Given the description of an element on the screen output the (x, y) to click on. 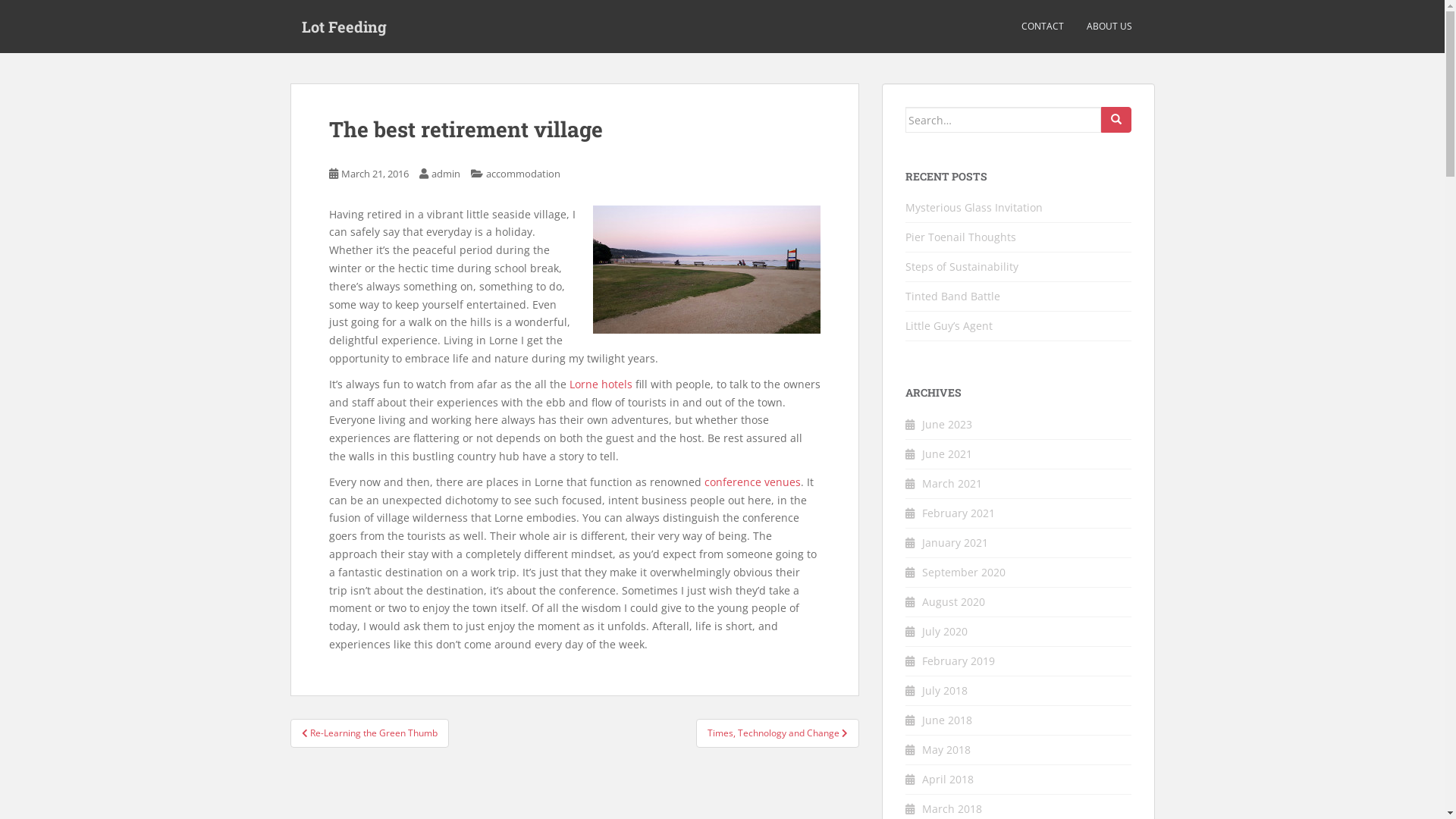
Lorne hotels Element type: text (599, 383)
Steps of Sustainability Element type: text (961, 266)
July 2018 Element type: text (944, 690)
January 2021 Element type: text (955, 542)
February 2019 Element type: text (958, 660)
ABOUT US Element type: text (1108, 26)
Re-Learning the Green Thumb Element type: text (368, 732)
February 2021 Element type: text (958, 512)
June 2023 Element type: text (947, 424)
Times, Technology and Change Element type: text (777, 732)
April 2018 Element type: text (947, 778)
March 21, 2016 Element type: text (374, 173)
accommodation Element type: text (522, 173)
Search for: Element type: hover (1003, 119)
admin Element type: text (444, 173)
August 2020 Element type: text (953, 601)
conference venues Element type: text (751, 481)
Tinted Band Battle Element type: text (952, 295)
March 2021 Element type: text (952, 483)
CONTACT Element type: text (1041, 26)
Pier Toenail Thoughts Element type: text (960, 236)
Mysterious Glass Invitation Element type: text (973, 207)
Search Element type: text (1116, 119)
March 2018 Element type: text (952, 808)
September 2020 Element type: text (963, 571)
July 2020 Element type: text (944, 631)
June 2018 Element type: text (947, 719)
May 2018 Element type: text (946, 749)
June 2021 Element type: text (947, 453)
Lot Feeding Element type: text (343, 26)
